Given the description of an element on the screen output the (x, y) to click on. 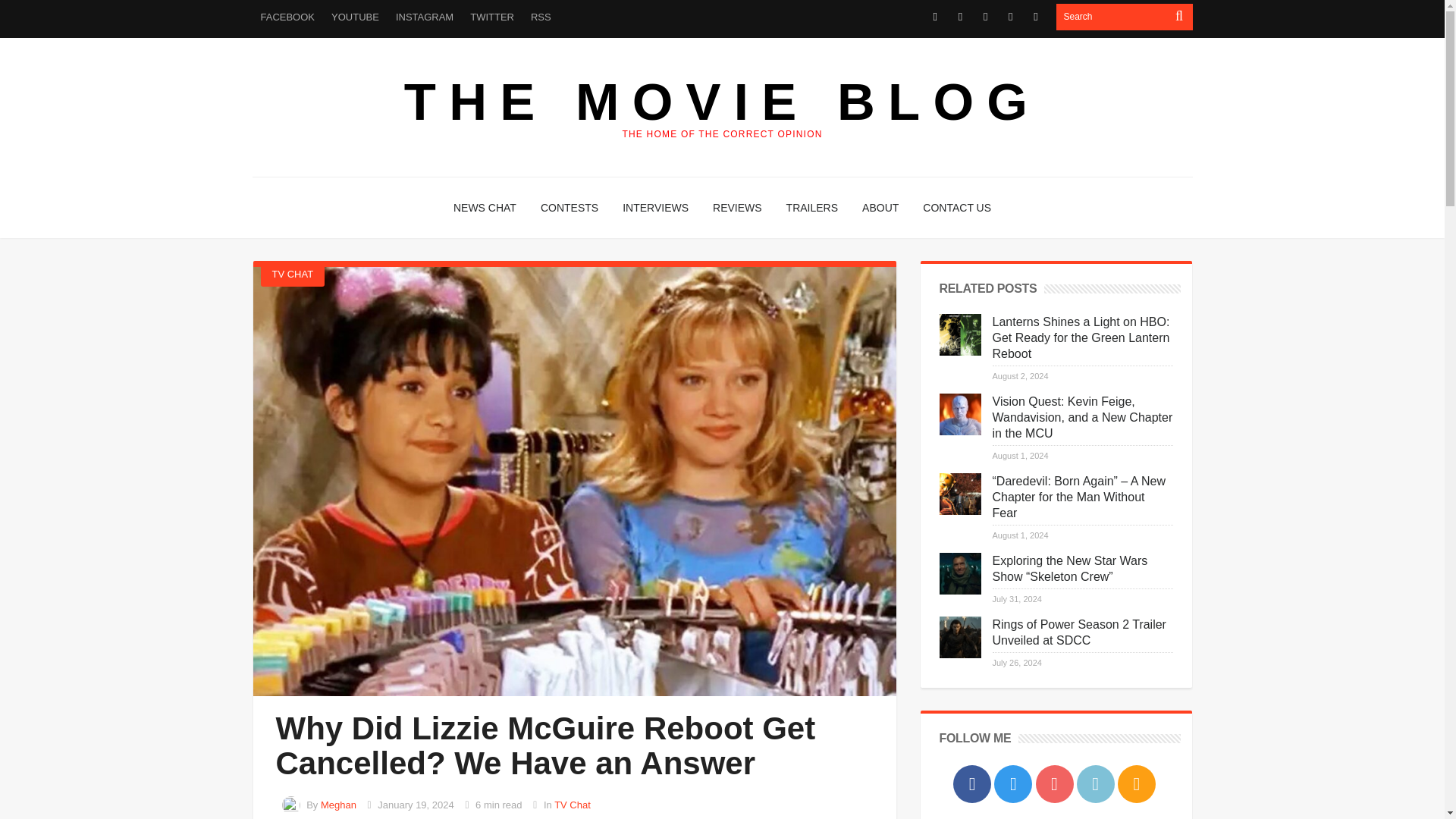
Youtube (984, 16)
Search (1111, 17)
THE MOVIE BLOG (722, 101)
Reddit (1010, 16)
NEWS CHAT (484, 207)
Twitter (960, 16)
RSS (540, 17)
FACEBOOK (287, 17)
TWITTER (491, 17)
INSTAGRAM (424, 17)
